Given the description of an element on the screen output the (x, y) to click on. 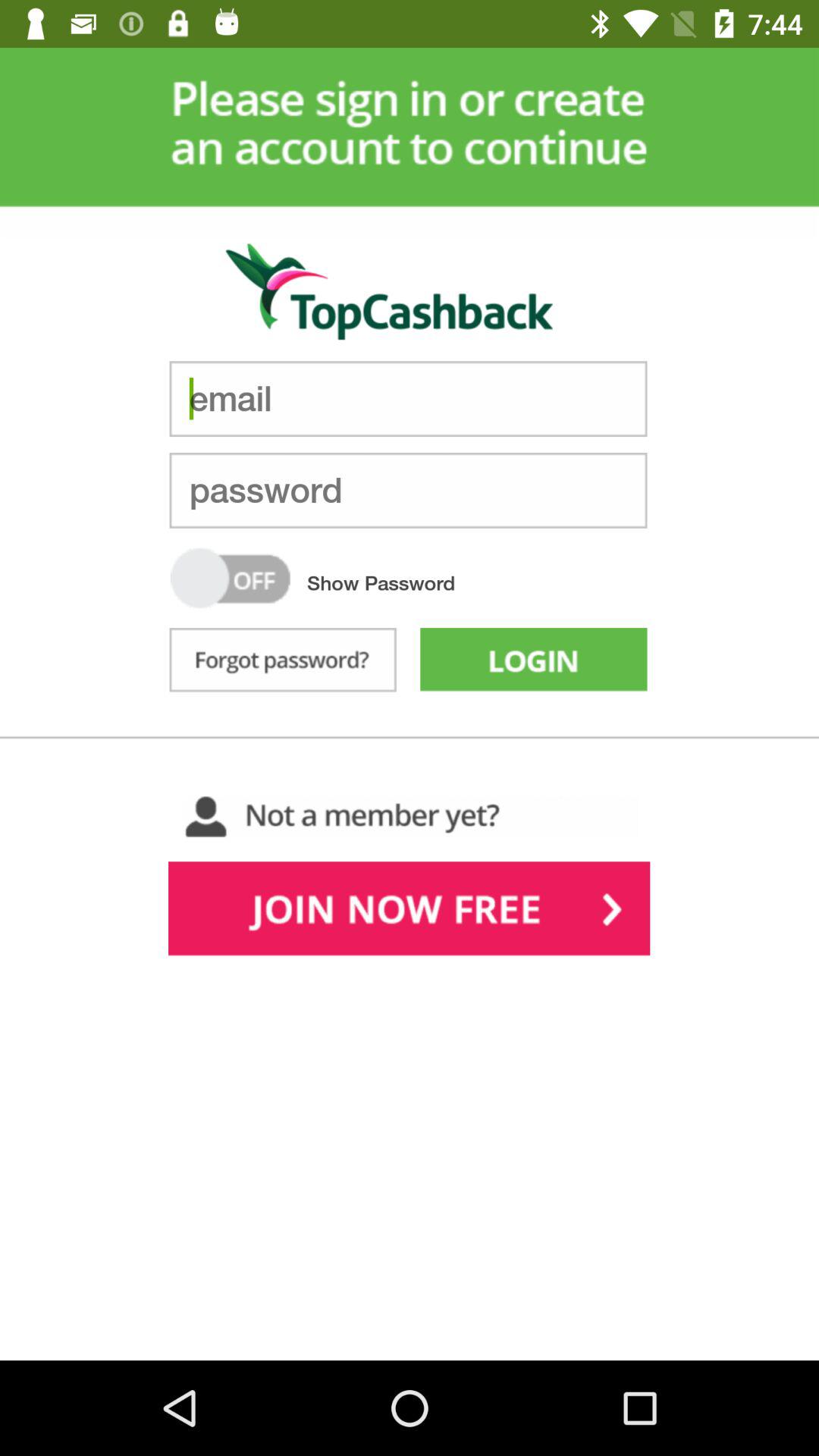
toggle password display (230, 577)
